Given the description of an element on the screen output the (x, y) to click on. 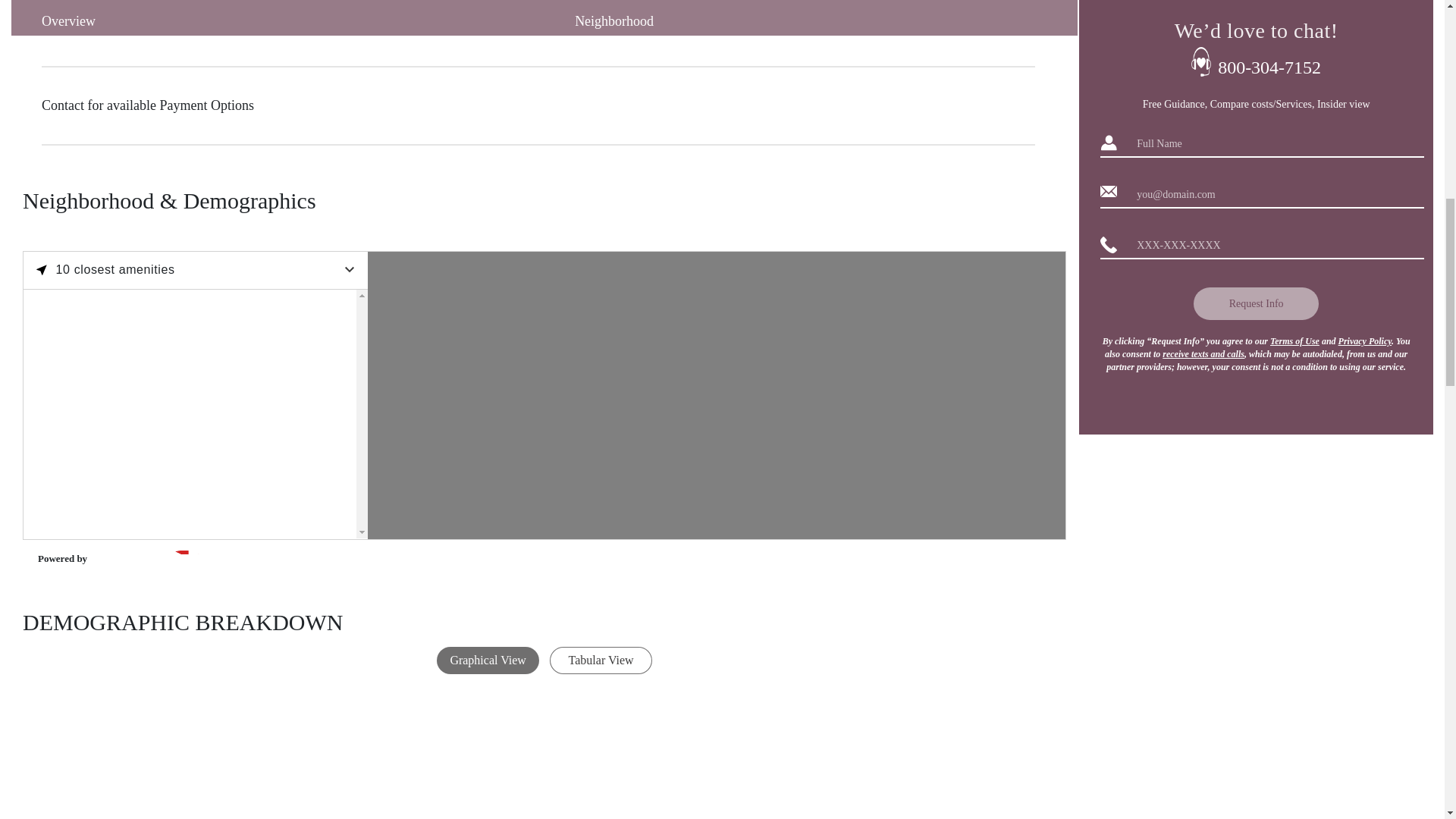
Tabular View (601, 659)
Graphical View (487, 659)
